Given the description of an element on the screen output the (x, y) to click on. 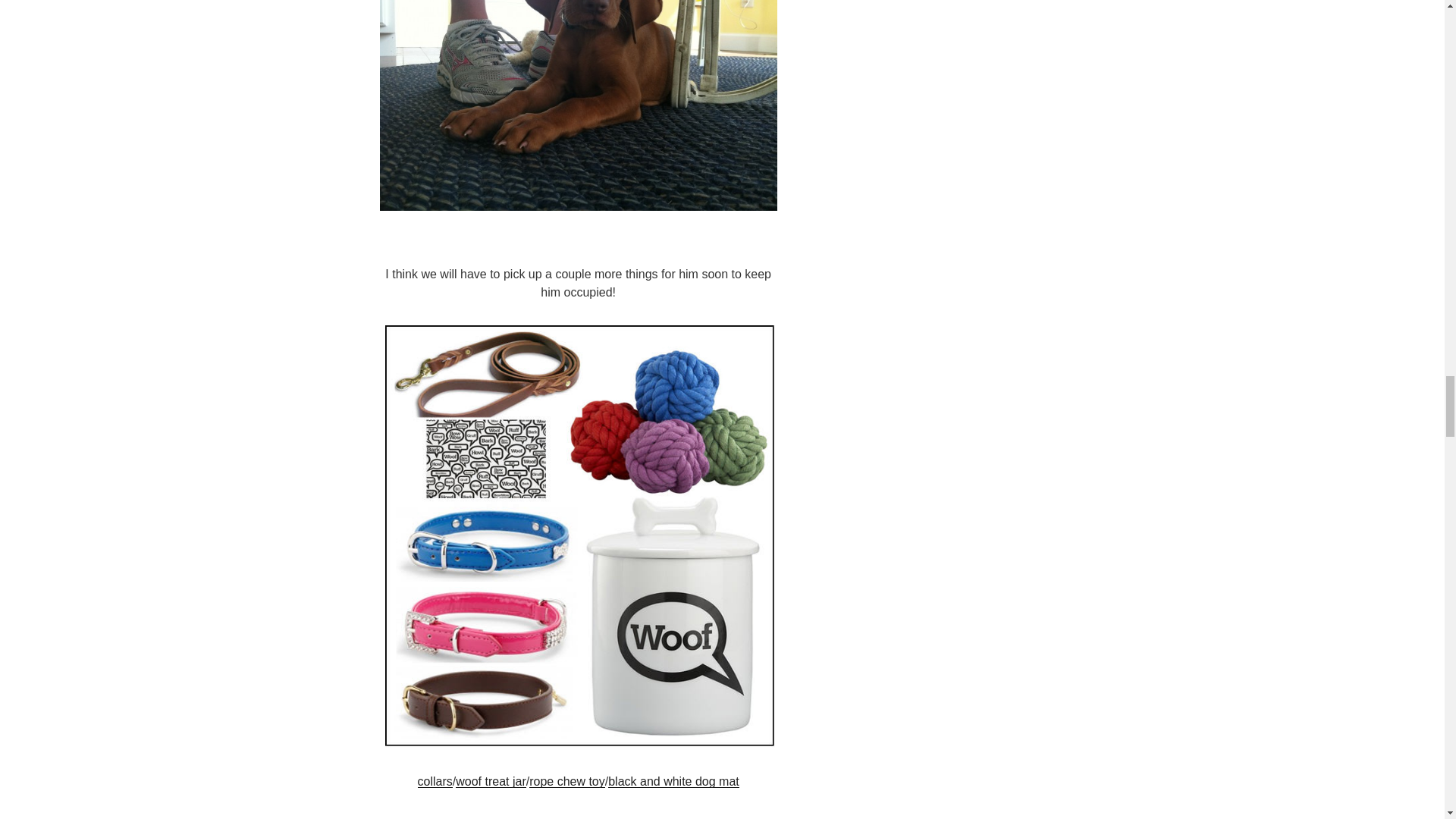
woof treat jar (490, 780)
WATSON (577, 105)
black and white dog mat (673, 780)
rope chew toy (567, 780)
collars (434, 780)
